Given the description of an element on the screen output the (x, y) to click on. 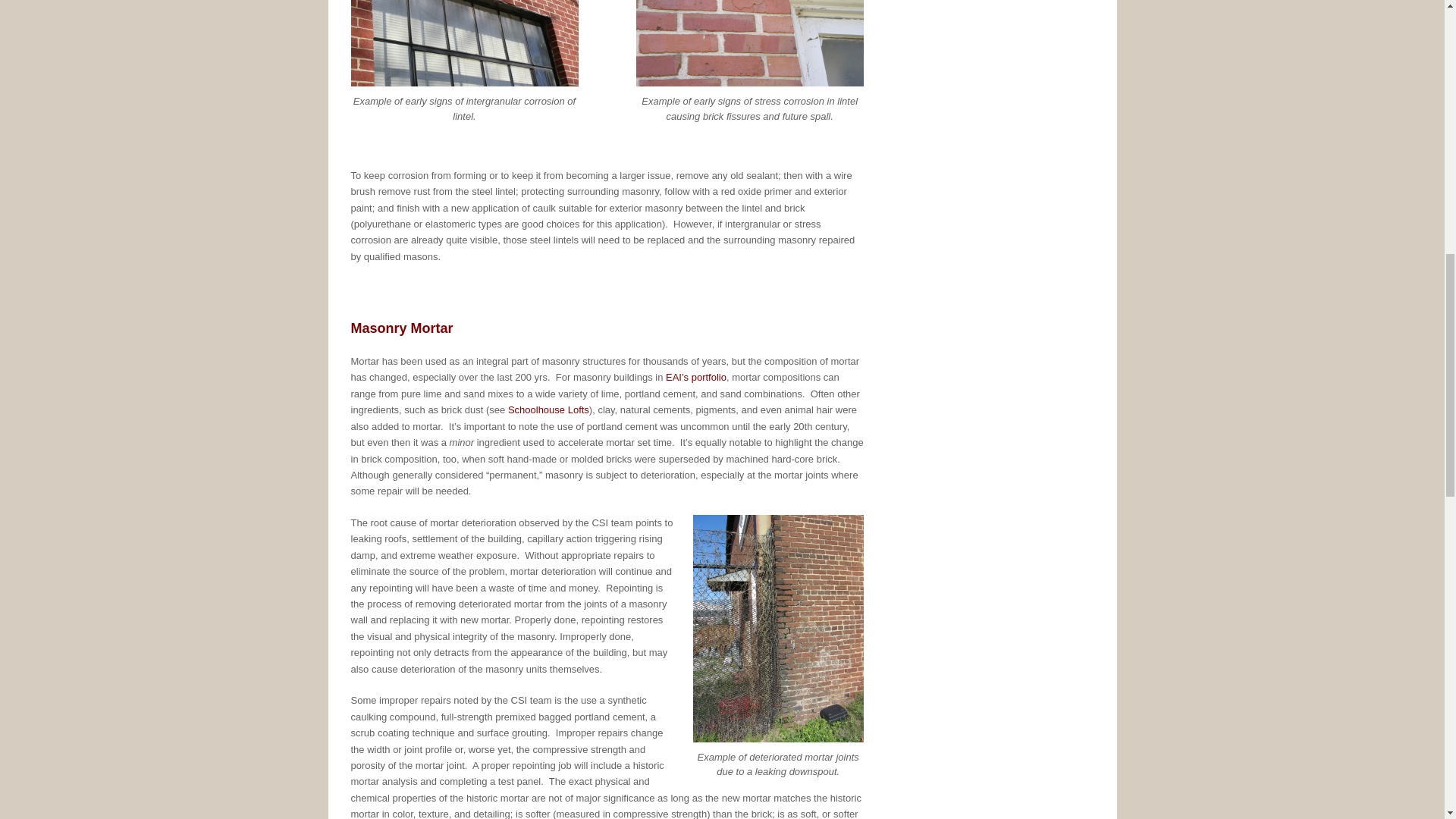
Schoolhouse Lofts (548, 409)
Easement Portfolio (695, 377)
